Given the description of an element on the screen output the (x, y) to click on. 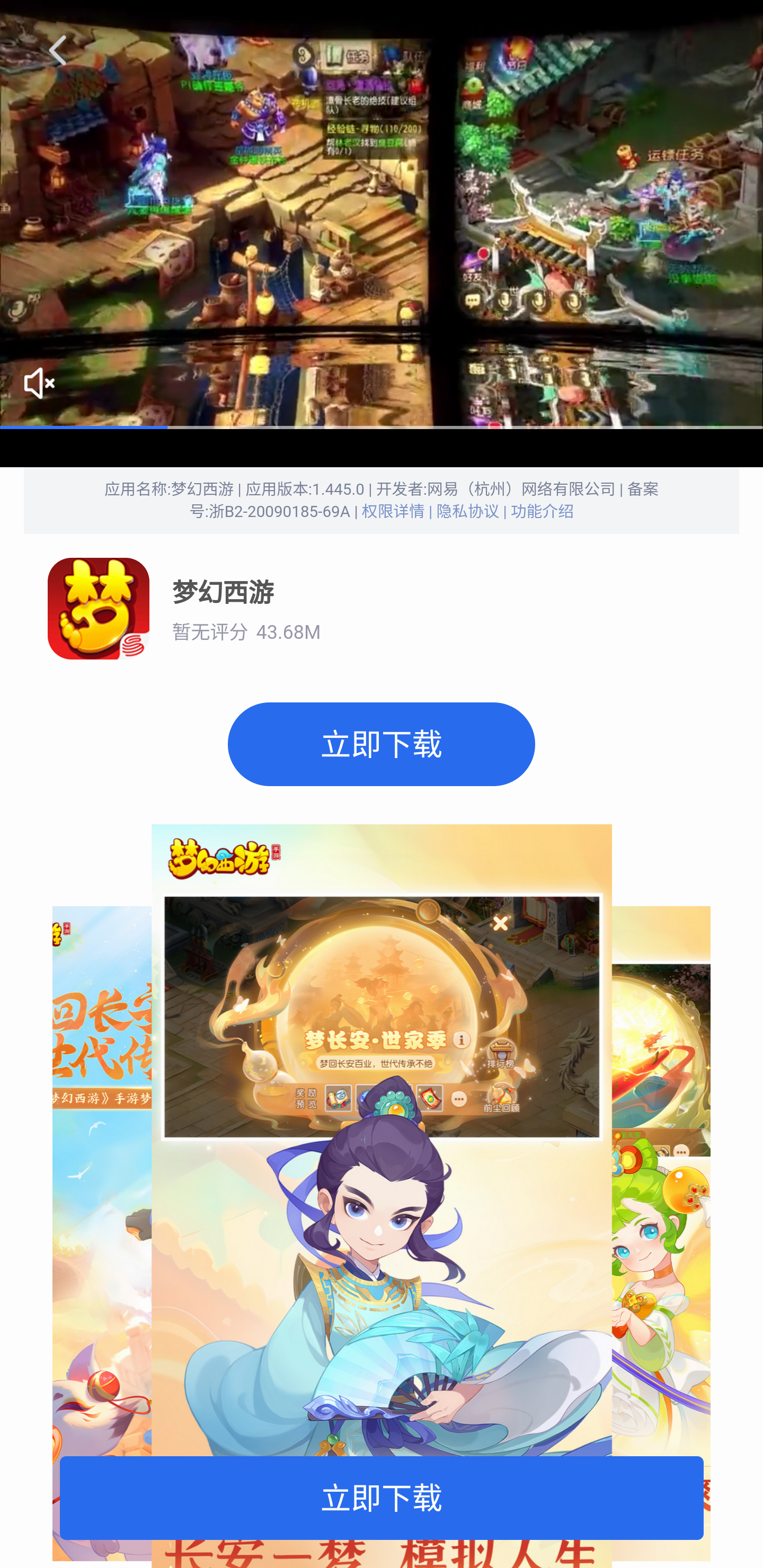
广告 6603.0 (381, 214)
立即下载 (381, 743)
立即下载 (381, 1497)
